Given the description of an element on the screen output the (x, y) to click on. 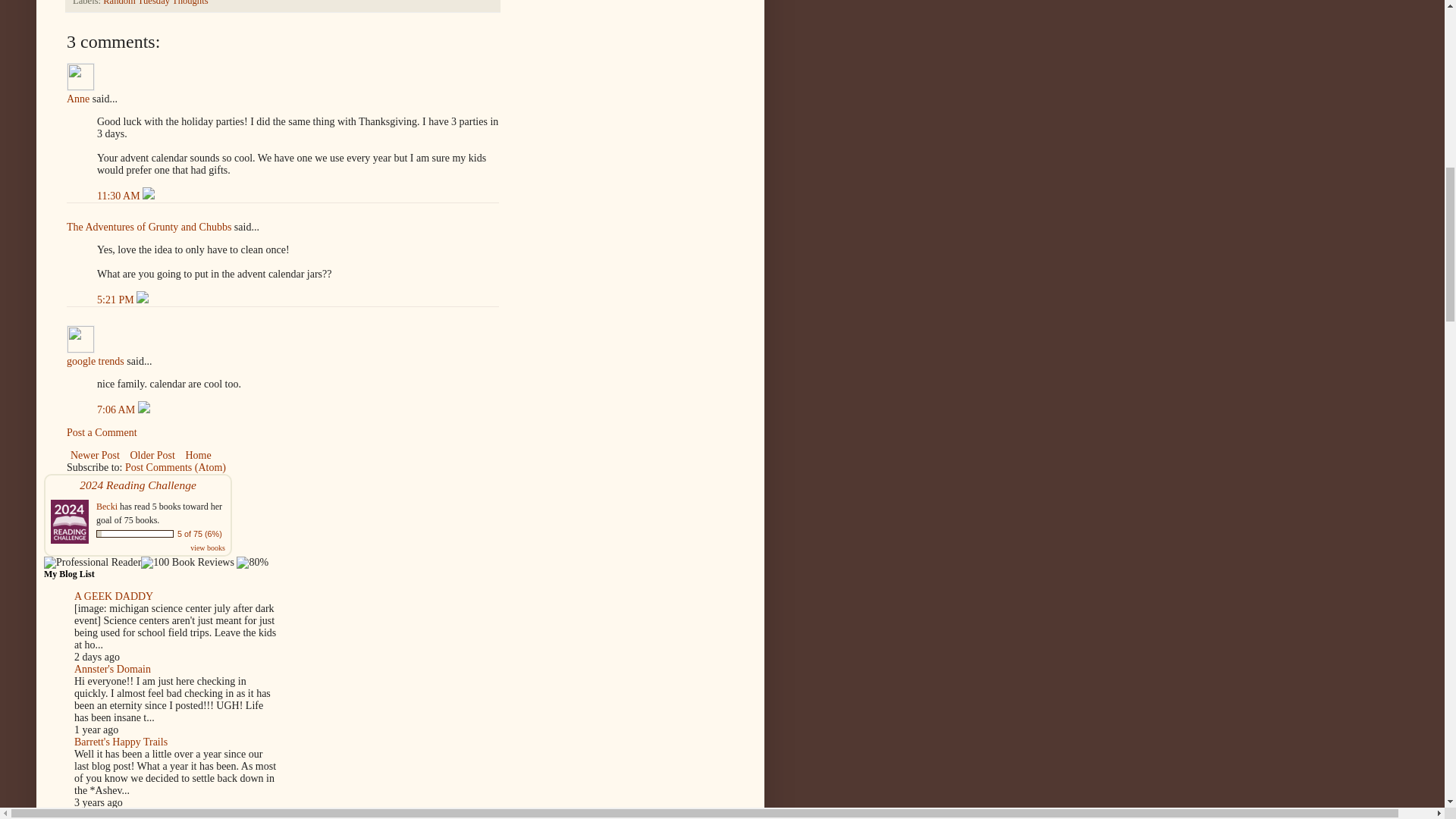
google trends (80, 338)
A GEEK DADDY (113, 595)
Anne (80, 76)
comment permalink (116, 299)
Becki (107, 506)
Delete Comment (142, 299)
Annster's Domain (112, 668)
Anne (77, 98)
Newer Post (94, 455)
Home (197, 455)
The Adventures of Grunty and Chubbs (148, 226)
11:30 AM (119, 195)
5:21 PM (116, 299)
2024 Reading Challenge (138, 484)
view books (207, 547)
